Given the description of an element on the screen output the (x, y) to click on. 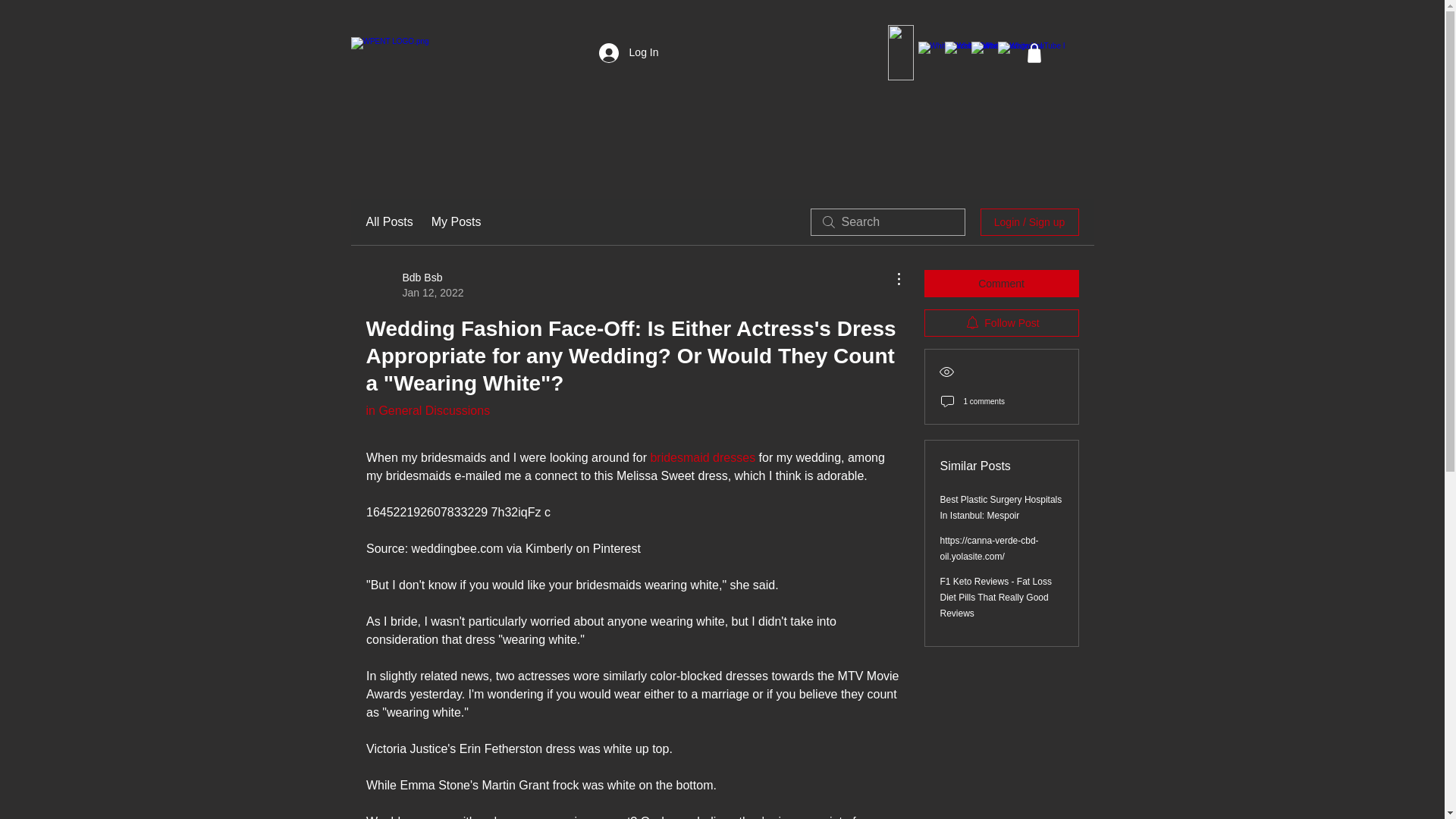
My Posts (455, 221)
bridesmaid dresses (702, 457)
in General Discussions (414, 285)
All Posts (427, 410)
Comment (388, 221)
Best Plastic Surgery Hospitals In Istanbul: Mespoir (1000, 283)
Follow Post (1001, 507)
Log In (1000, 322)
